Given the description of an element on the screen output the (x, y) to click on. 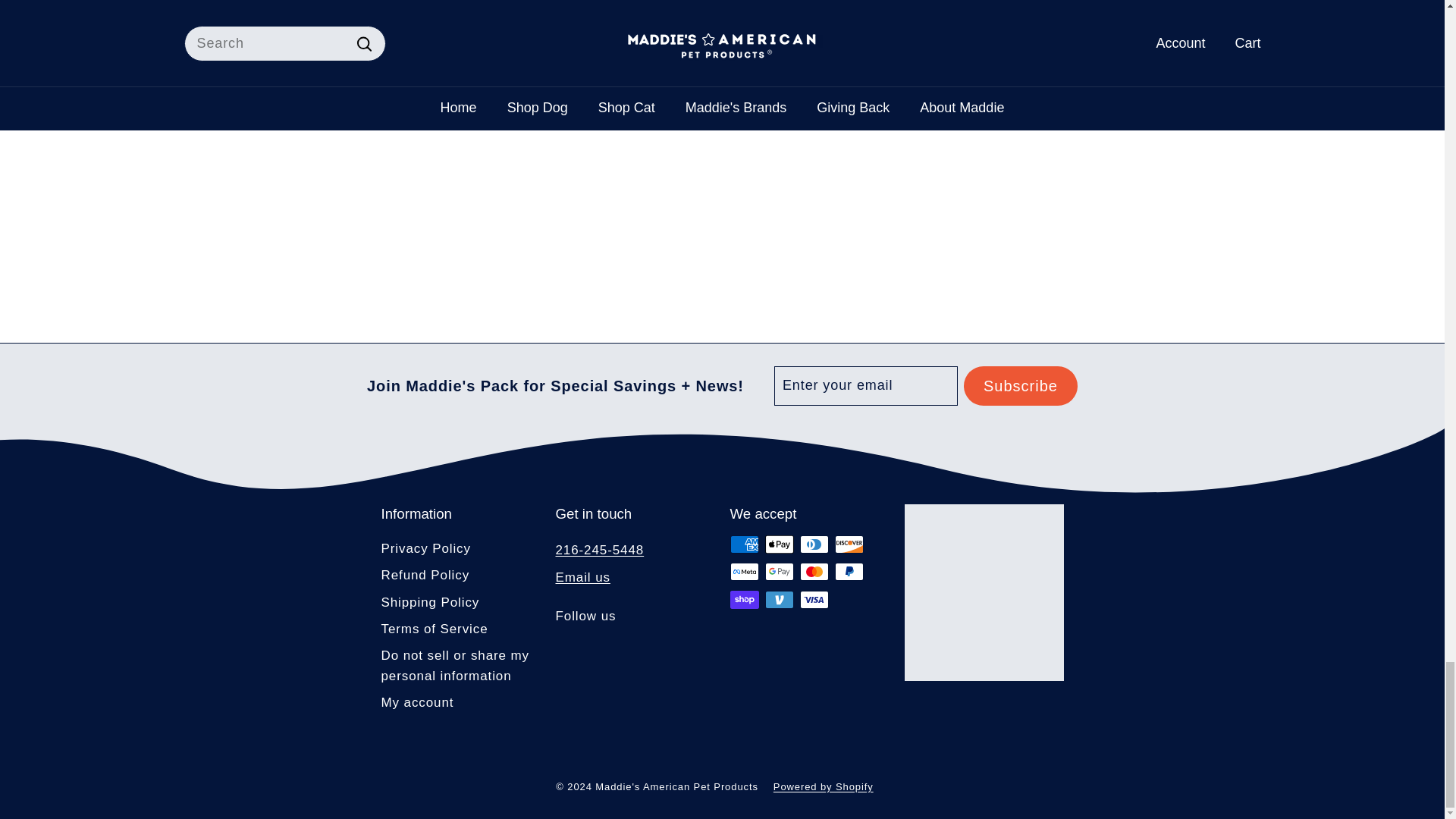
Meta Pay (743, 571)
Venmo (778, 599)
Apple Pay (778, 544)
Discover (848, 544)
Google Pay (778, 571)
Visa (813, 599)
Shop Pay (743, 599)
Mastercard (813, 571)
PayPal (848, 571)
American Express (743, 544)
